Given the description of an element on the screen output the (x, y) to click on. 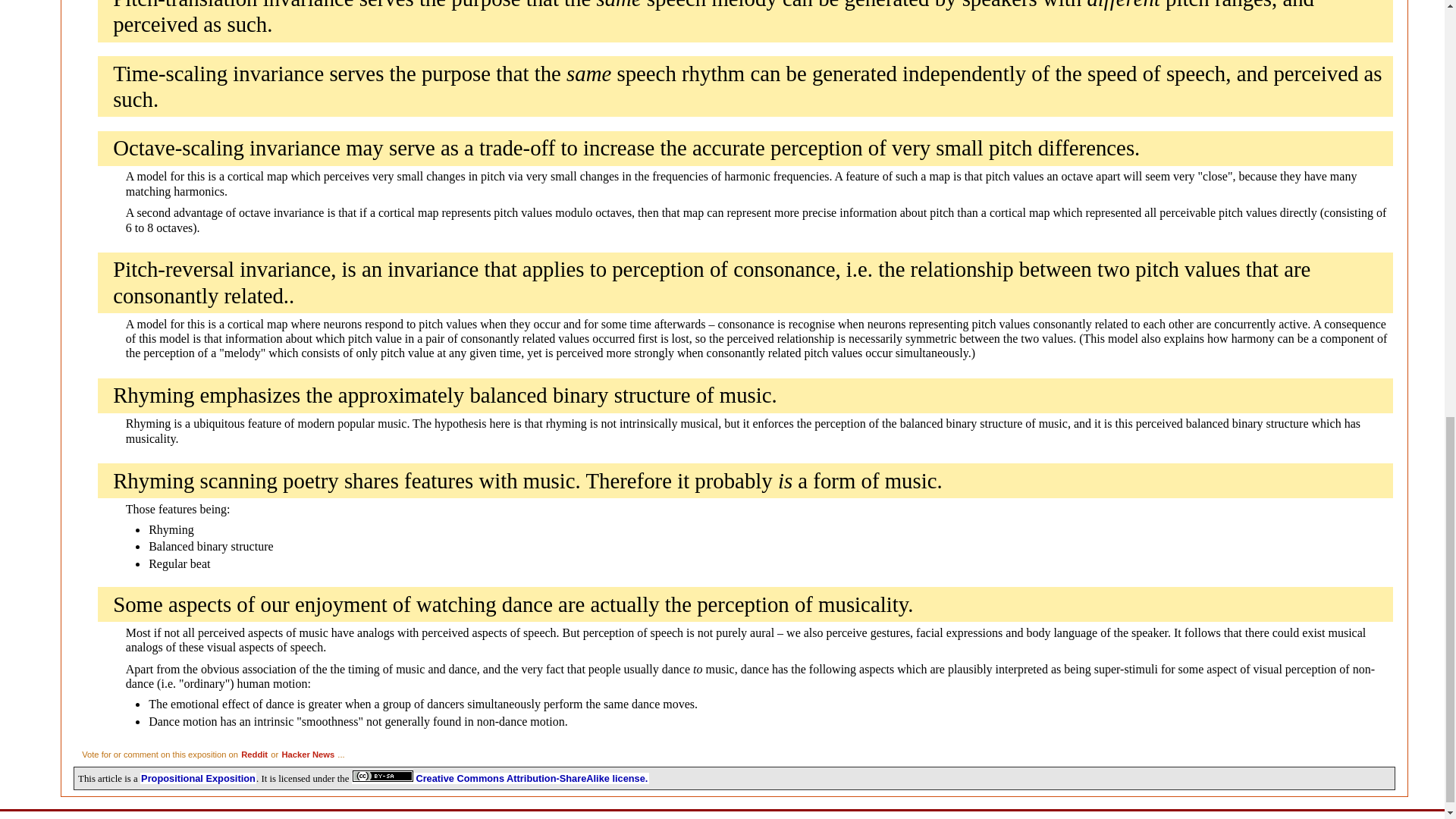
Hacker News (307, 754)
Propositional Exposition (197, 778)
Reddit (253, 754)
 Creative Commons Attribution-ShareAlike license. (500, 778)
